Given the description of an element on the screen output the (x, y) to click on. 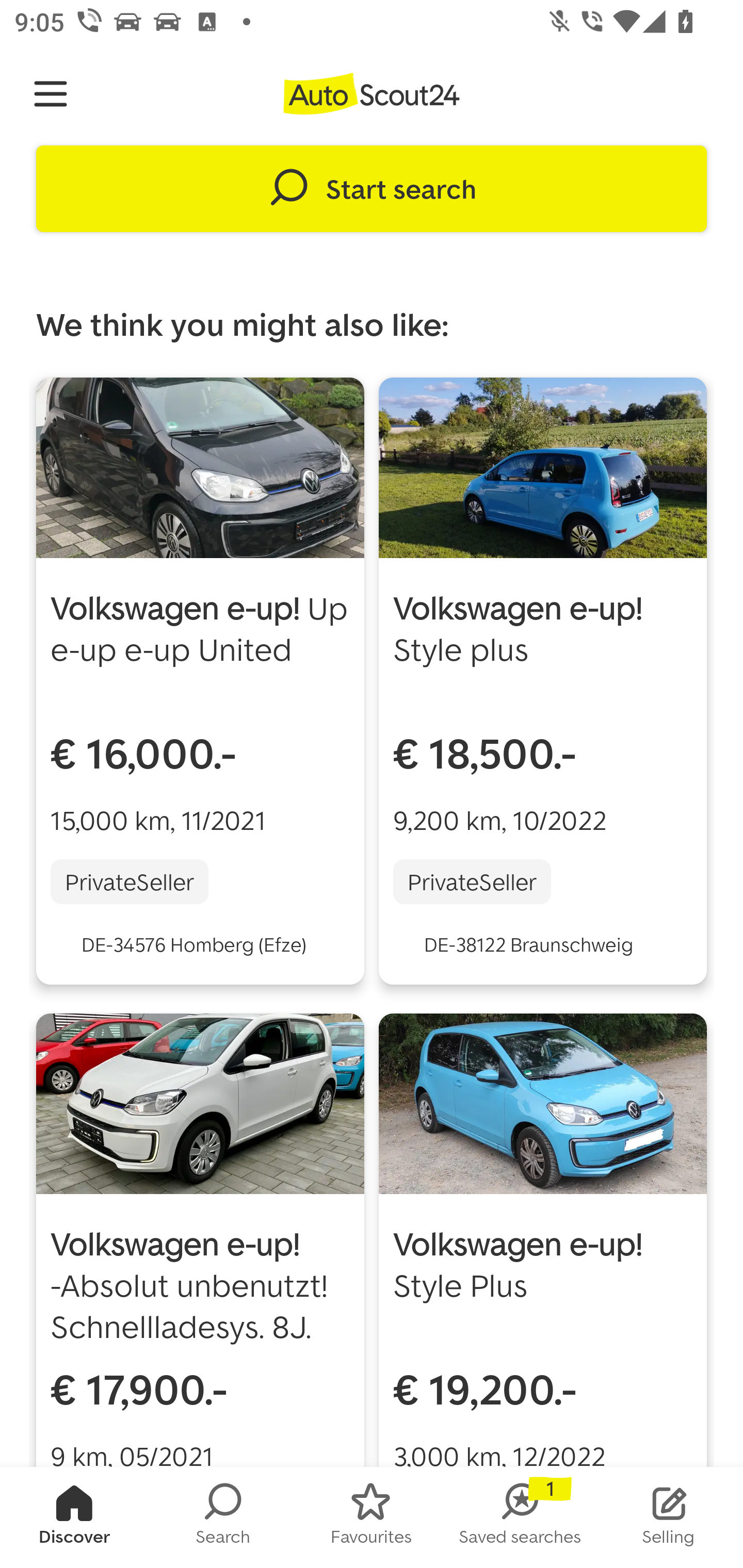
Navigate up (50, 93)
Start search (371, 188)
HOMESCREEN Discover (74, 1517)
SEARCH Search (222, 1517)
FAVORITES Favourites (371, 1517)
SAVED_SEARCHES Saved searches 1 (519, 1517)
STOCK_LIST Selling (668, 1517)
